Given the description of an element on the screen output the (x, y) to click on. 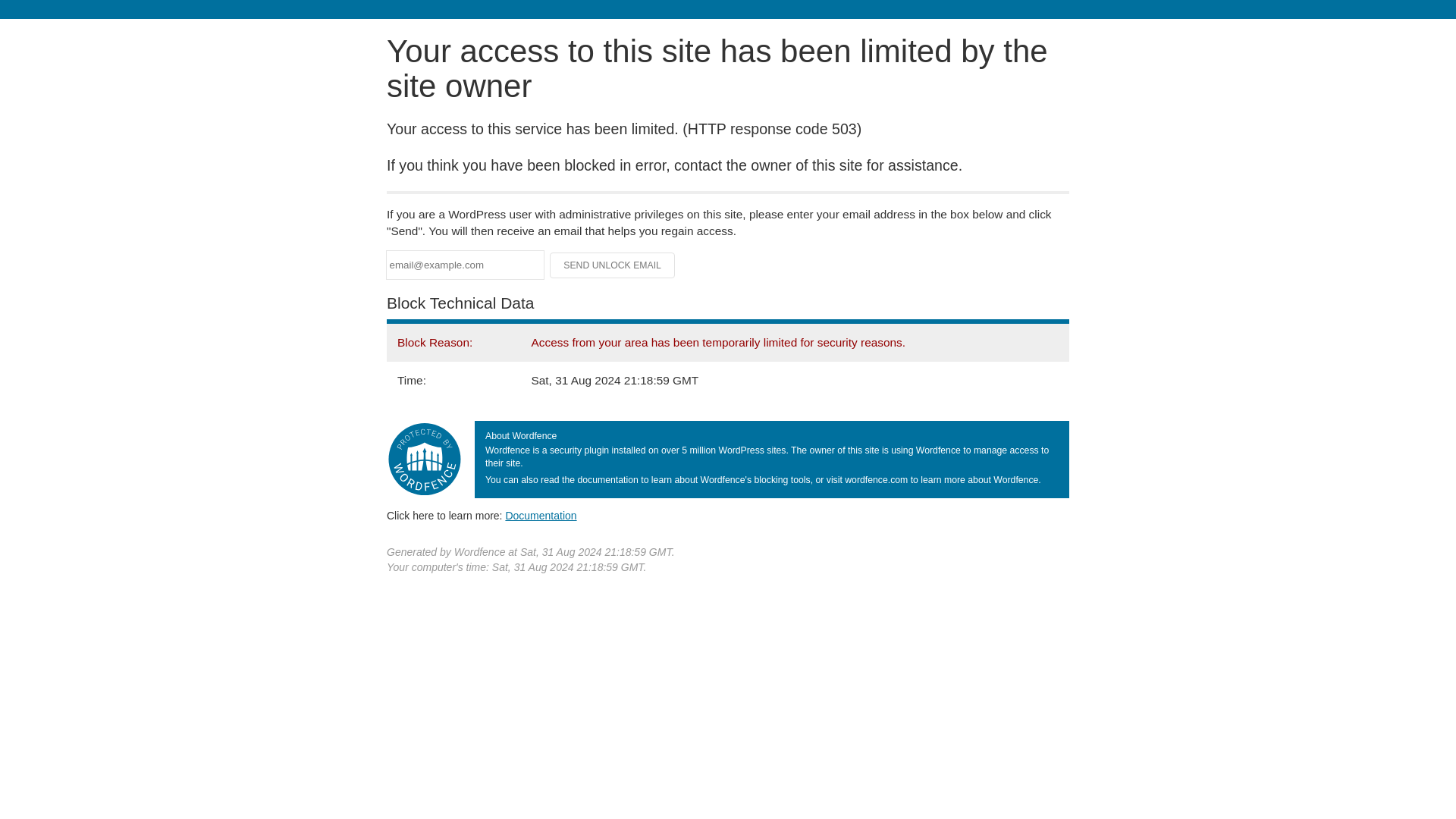
Documentation (540, 515)
Send Unlock Email (612, 265)
Send Unlock Email (612, 265)
